Given the description of an element on the screen output the (x, y) to click on. 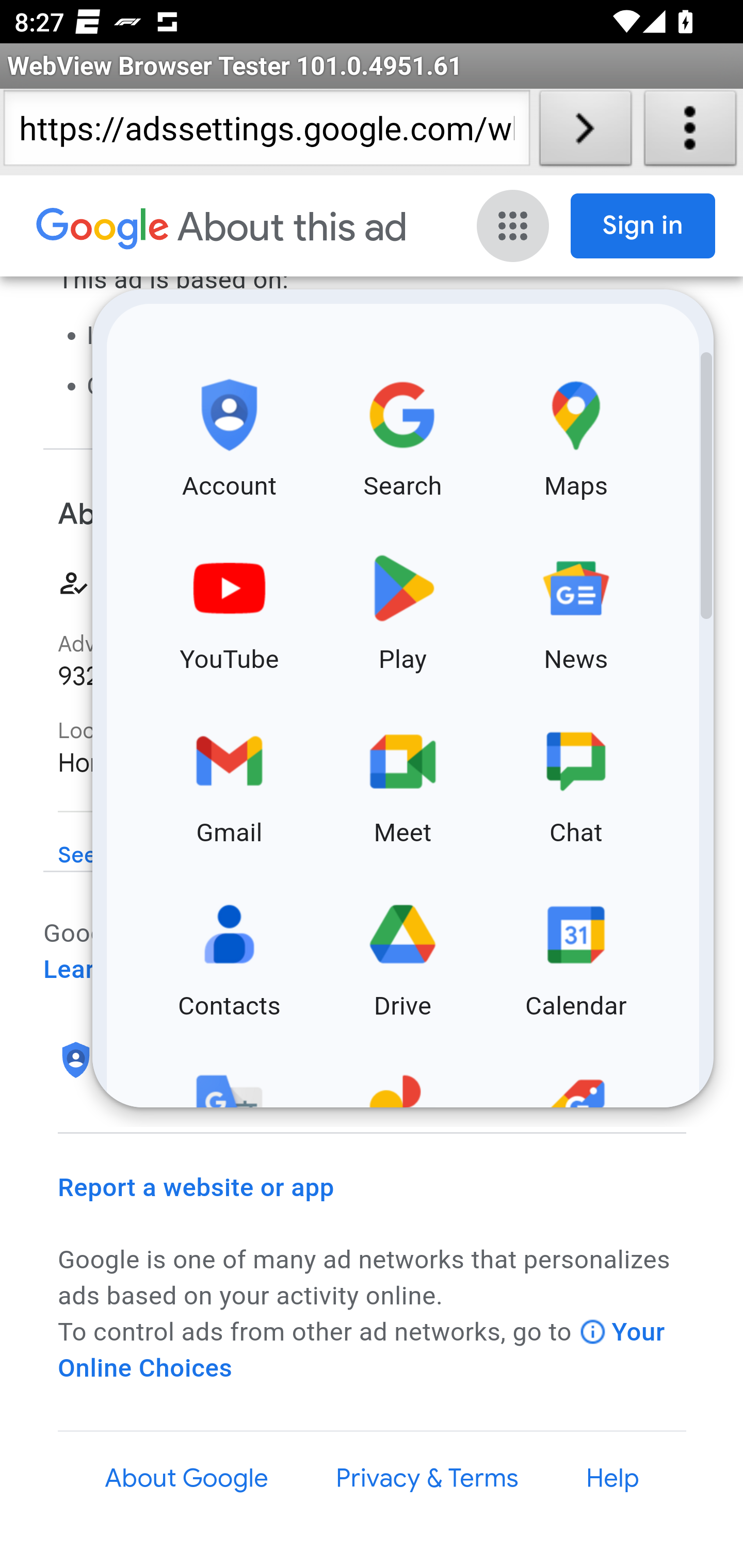
https://adssettings.google.com/whythisad (266, 132)
Load URL (585, 132)
About WebView (690, 132)
Google apps (514, 226)
Sign in (643, 226)
Report a website or app (196, 1187)
Your Online Choices (361, 1349)
About Google (186, 1478)
Privacy & Terms (426, 1478)
